Given the description of an element on the screen output the (x, y) to click on. 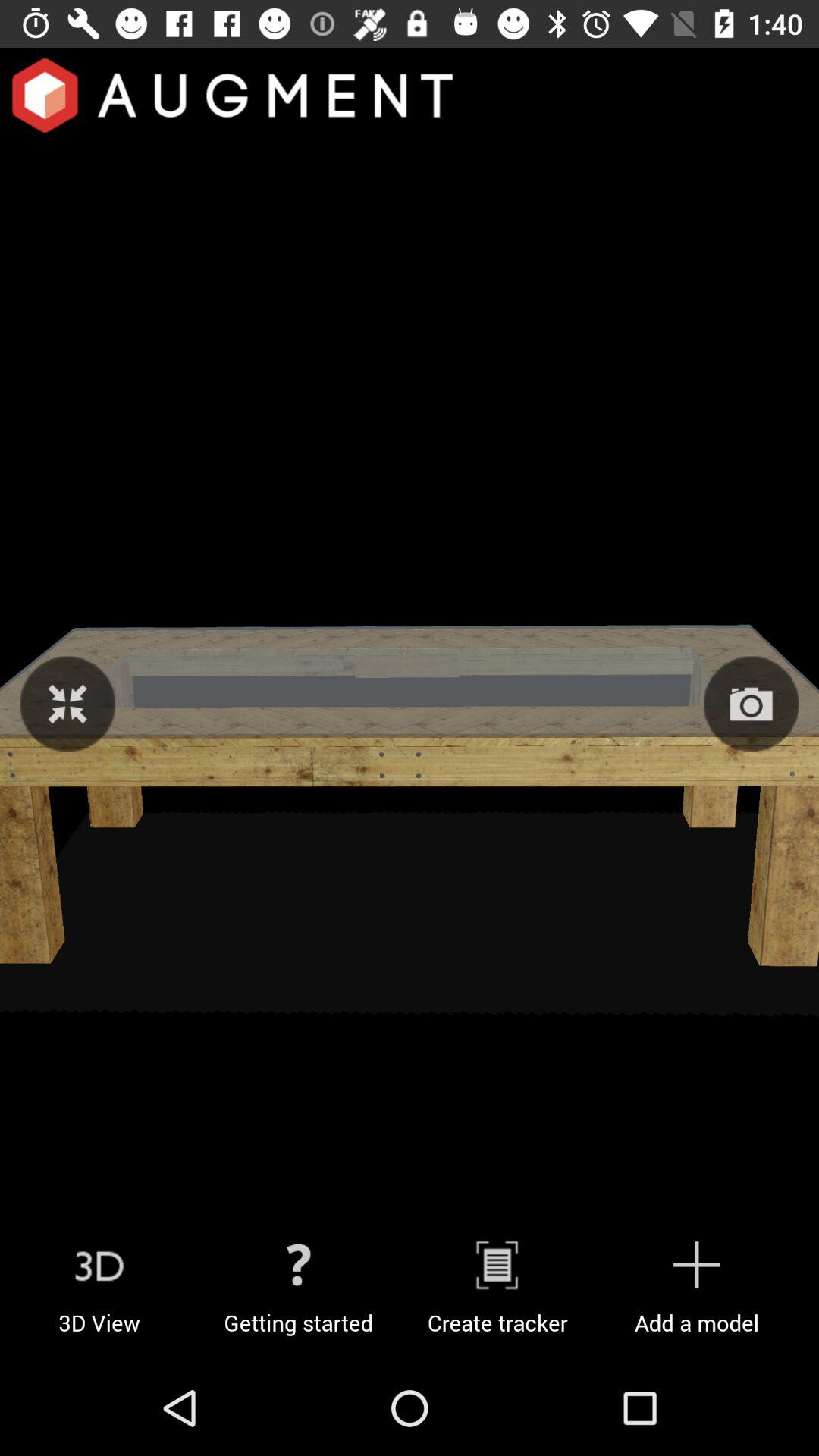
camera option (751, 703)
